Given the description of an element on the screen output the (x, y) to click on. 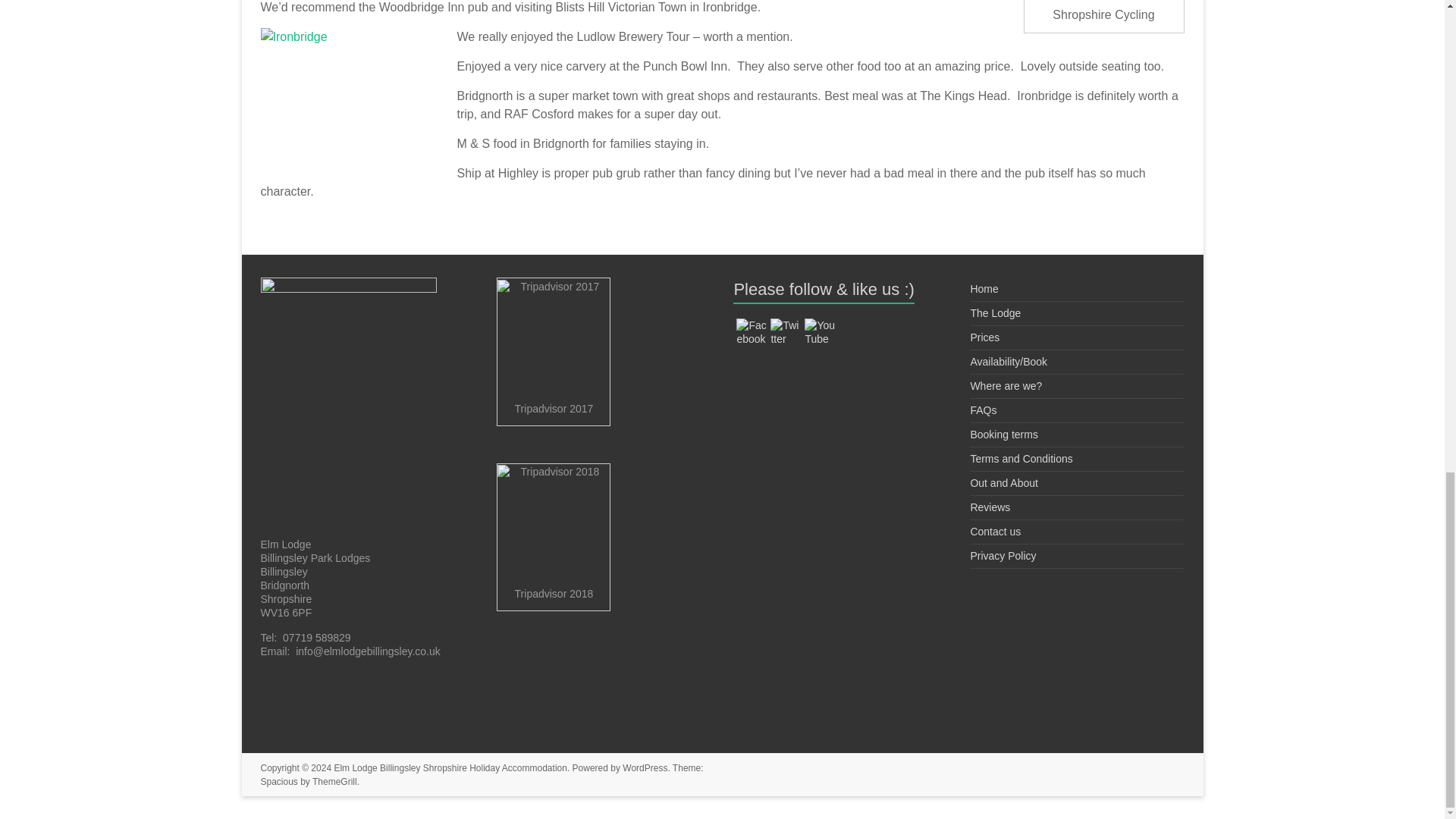
Reviews (989, 507)
Terms and Conditions (1020, 458)
Facebook (751, 331)
YouTube (819, 331)
Home (983, 288)
The Lodge (994, 313)
Out and About (1003, 482)
FAQs (982, 410)
ThemeGrill (334, 781)
ThemeGrill (334, 781)
